Given the description of an element on the screen output the (x, y) to click on. 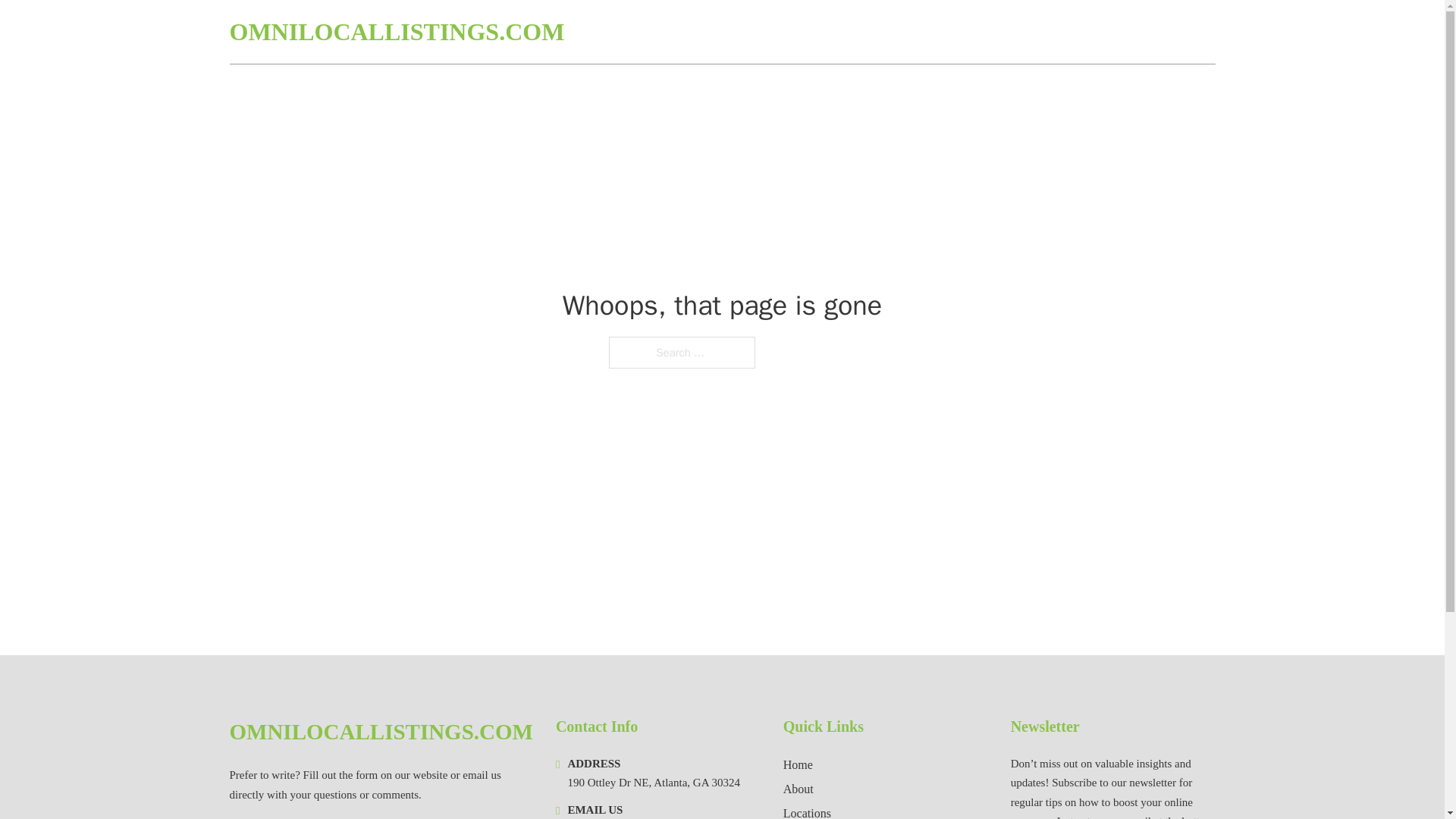
LOCATIONS (1105, 31)
OMNILOCALLISTINGS.COM (396, 31)
OMNILOCALLISTINGS.COM (380, 732)
Locations (807, 811)
About (798, 788)
Home (797, 764)
HOME (1032, 31)
